Given the description of an element on the screen output the (x, y) to click on. 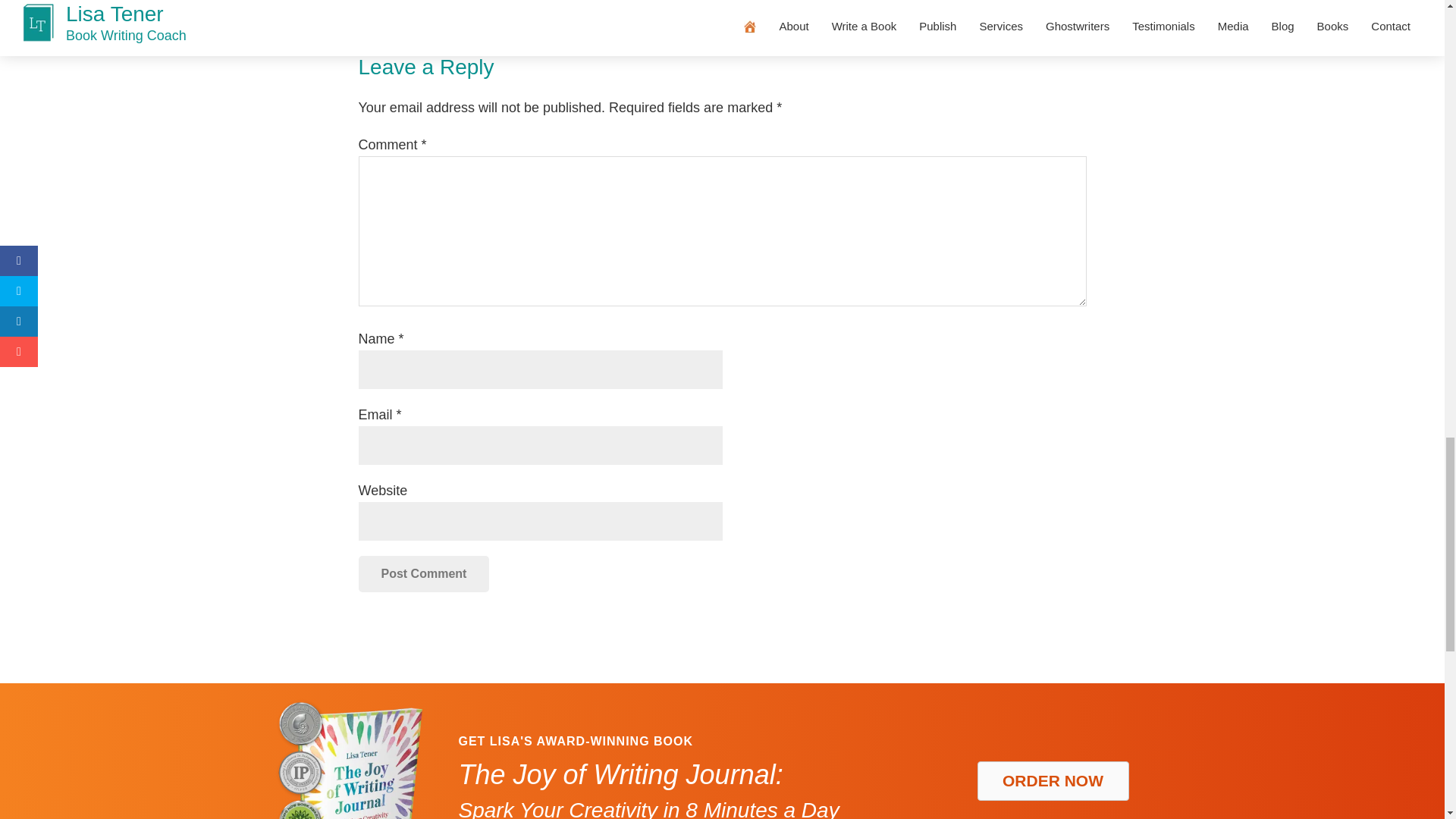
Post Comment (423, 574)
